Given the description of an element on the screen output the (x, y) to click on. 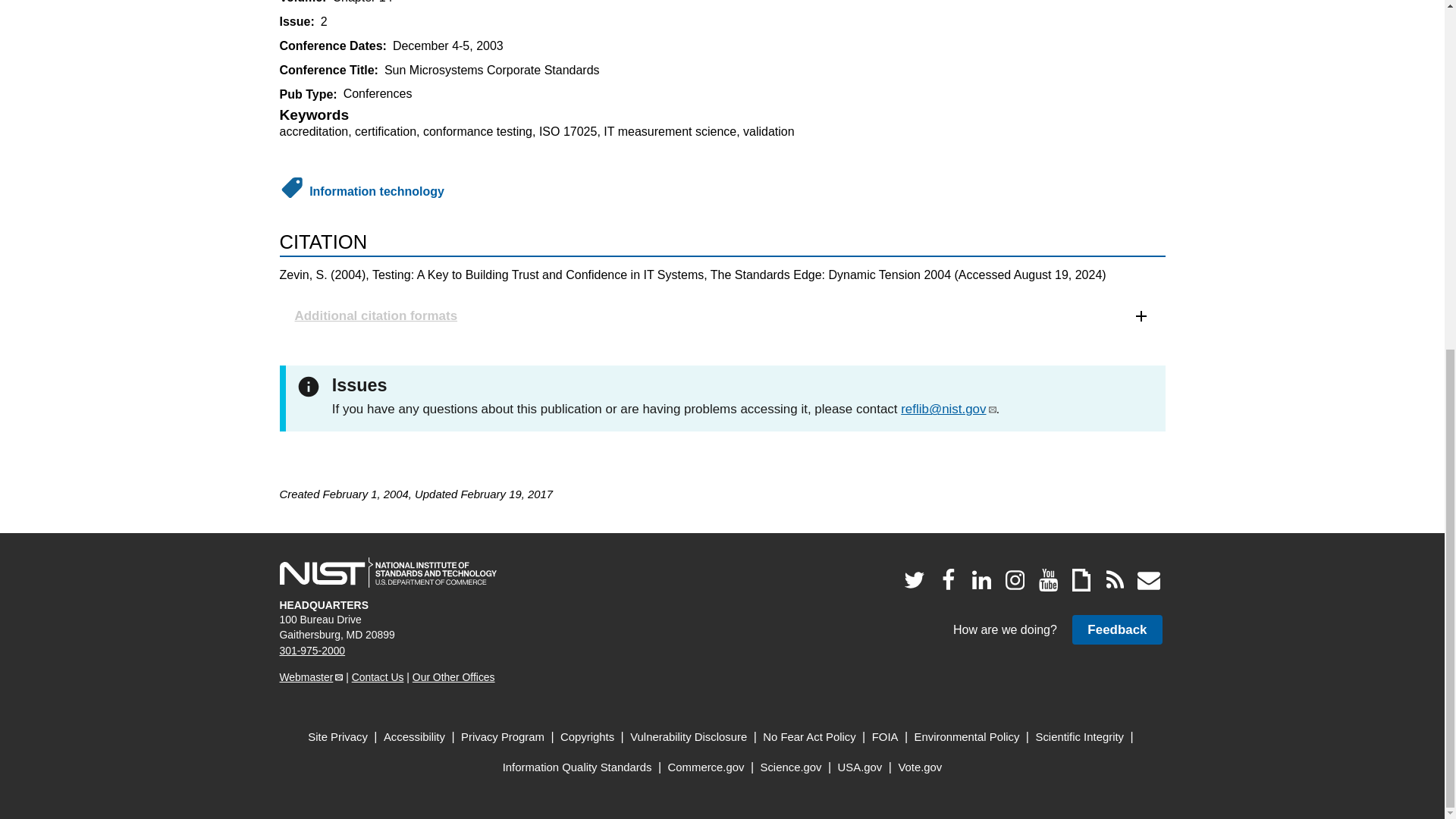
Privacy Program (502, 736)
Site Privacy (337, 736)
Copyrights (587, 736)
No Fear Act Policy (809, 736)
Environmental Policy (967, 736)
Scientific Integrity (1079, 736)
Additional citation formats (721, 315)
Webmaster (310, 676)
Provide feedback (1116, 629)
Our Other Offices (453, 676)
